Given the description of an element on the screen output the (x, y) to click on. 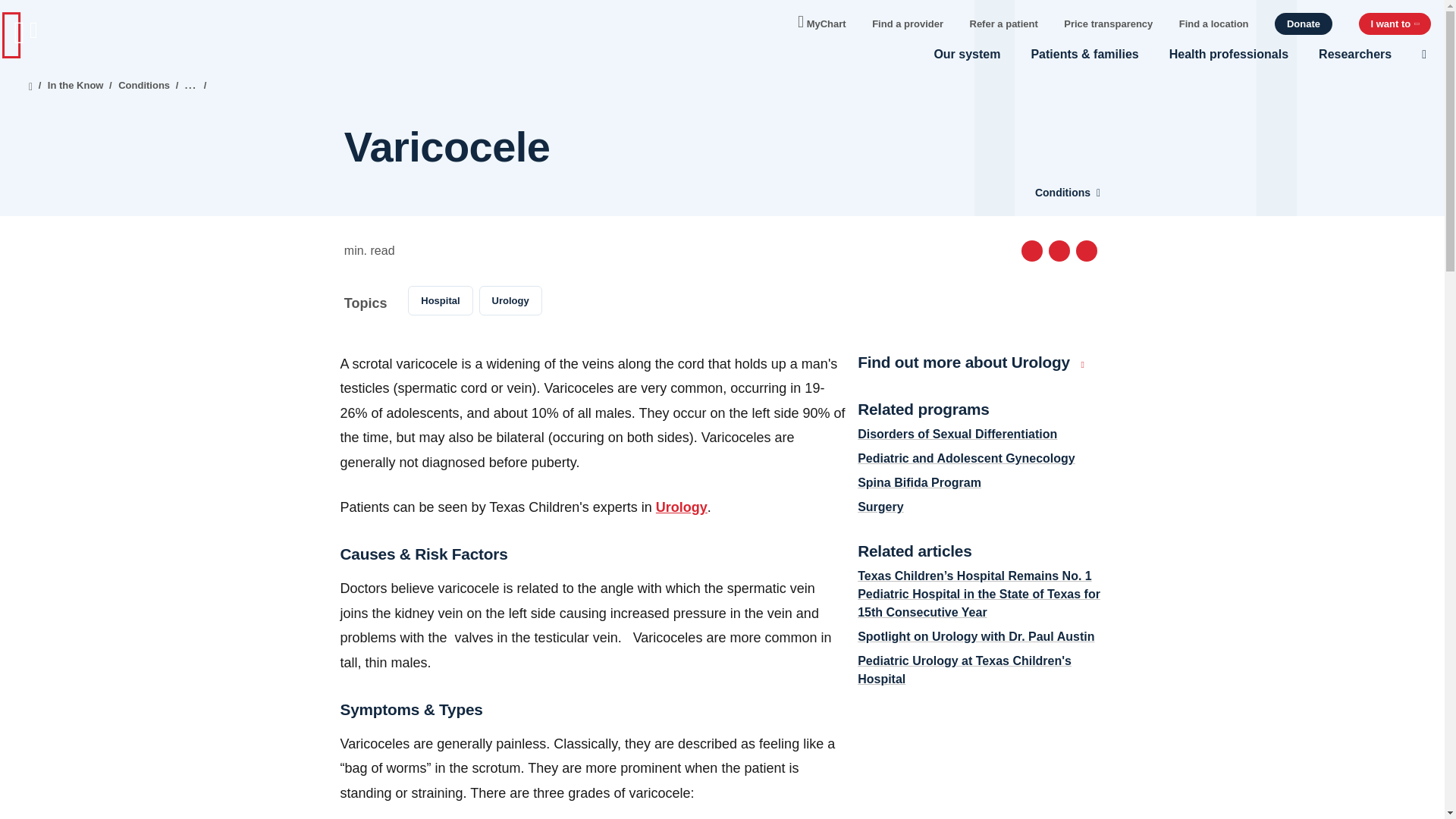
Price transparency (1108, 23)
Donate (1303, 24)
MyChart (821, 20)
Our system (966, 54)
Share to X (1059, 250)
Find a location (1214, 23)
Refer a patient (1002, 23)
Find a provider (907, 23)
Share to Facebook (1032, 250)
